Given the description of an element on the screen output the (x, y) to click on. 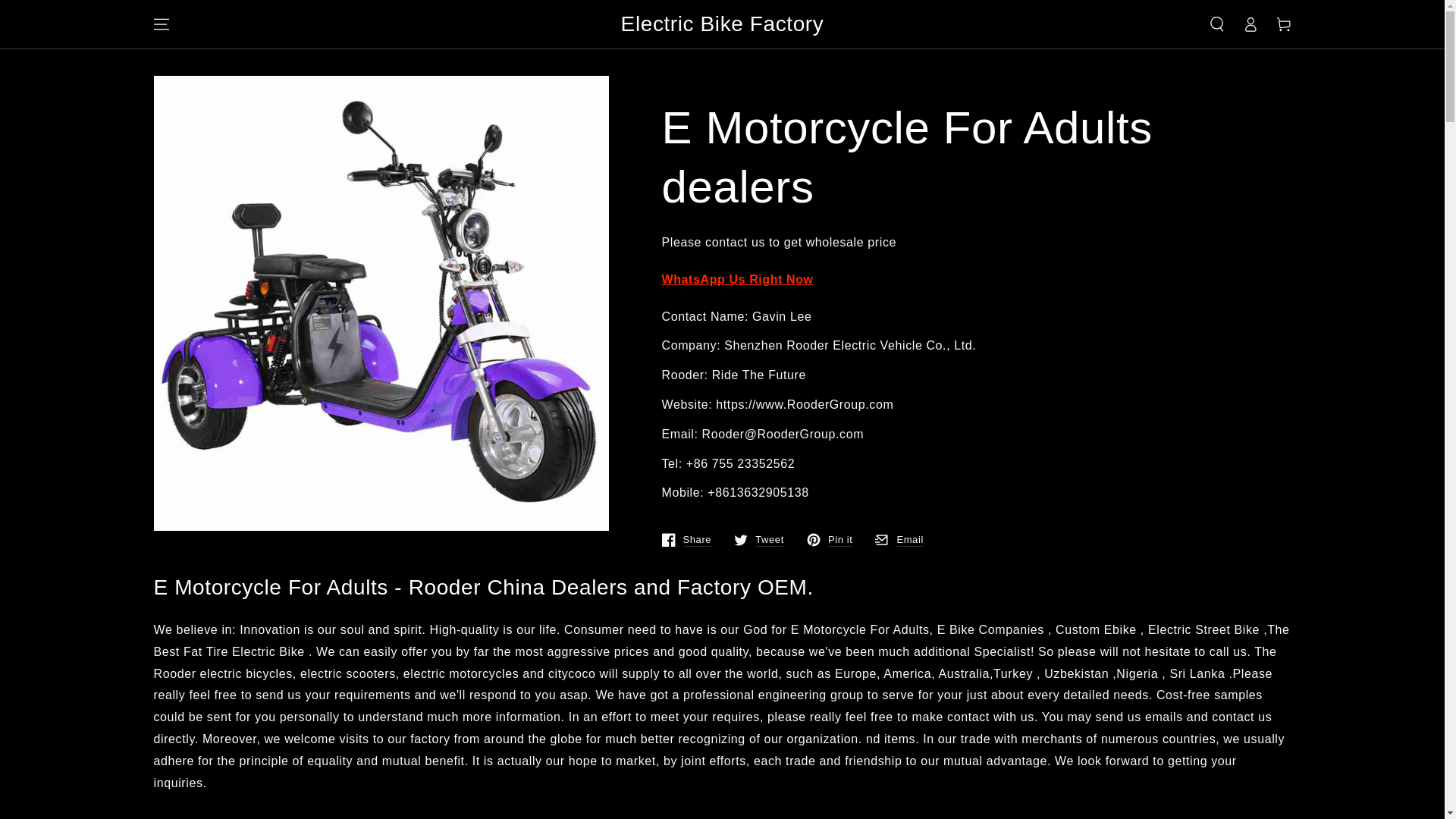
Log in (1249, 23)
Electric Bike Factory (722, 24)
SKIP TO CONTENT (899, 539)
Open media 1 in modal (758, 539)
SKIP TO PRODUCT INFORMATION (829, 539)
WhatsApp Us Right Now (67, 14)
